Given the description of an element on the screen output the (x, y) to click on. 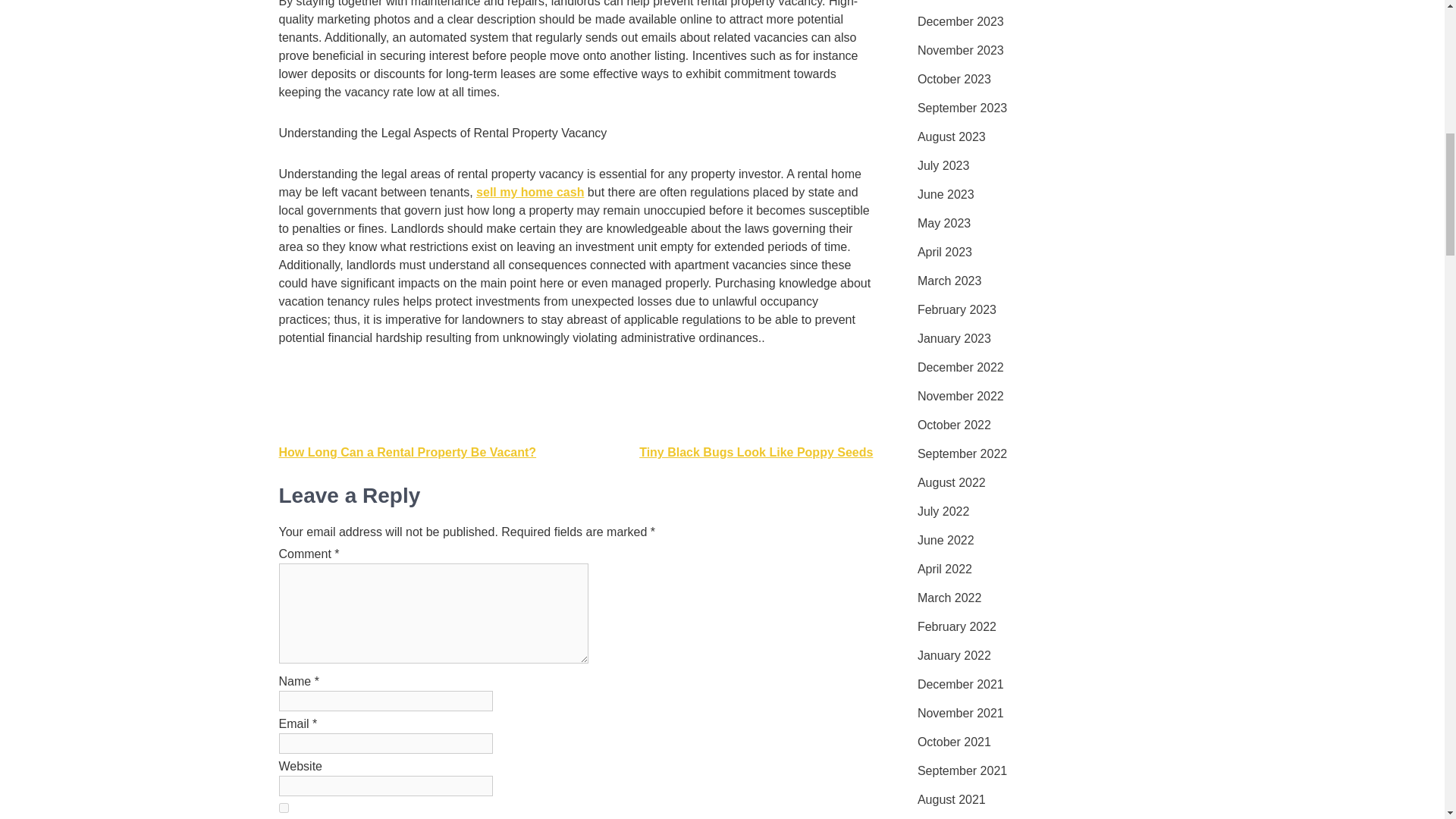
sell my home cash (529, 192)
June 2023 (945, 194)
July 2023 (943, 166)
August 2023 (951, 136)
December 2023 (960, 22)
September 2023 (962, 108)
November 2023 (960, 50)
January 2024 (954, 1)
yes (283, 808)
How Long Can a Rental Property Be Vacant? (408, 451)
